Given the description of an element on the screen output the (x, y) to click on. 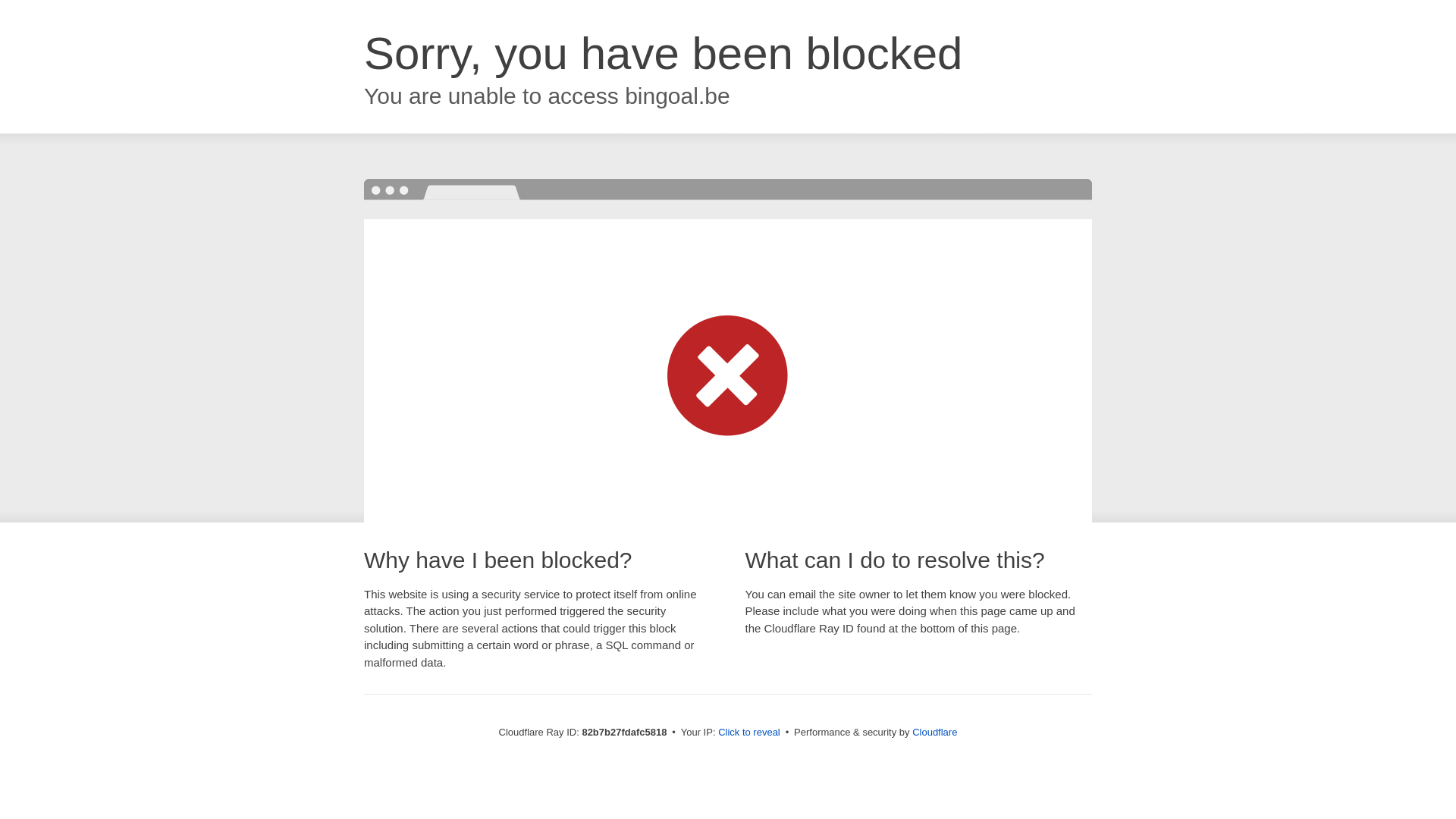
Cloudflare Element type: text (934, 731)
Click to reveal Element type: text (749, 732)
